Given the description of an element on the screen output the (x, y) to click on. 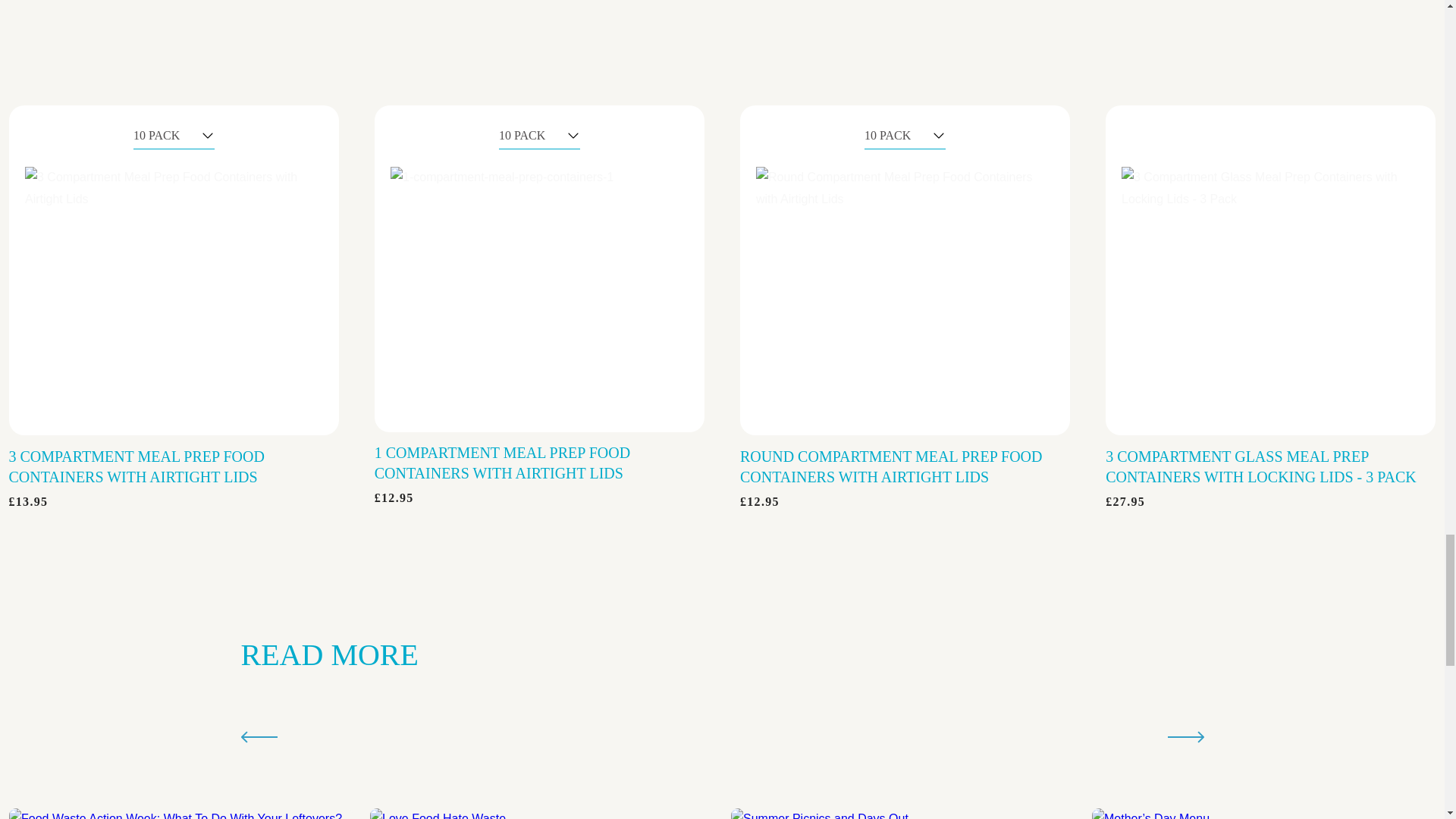
Product link (904, 270)
Product link (539, 268)
Product link (172, 270)
Product link (1270, 270)
